Given the description of an element on the screen output the (x, y) to click on. 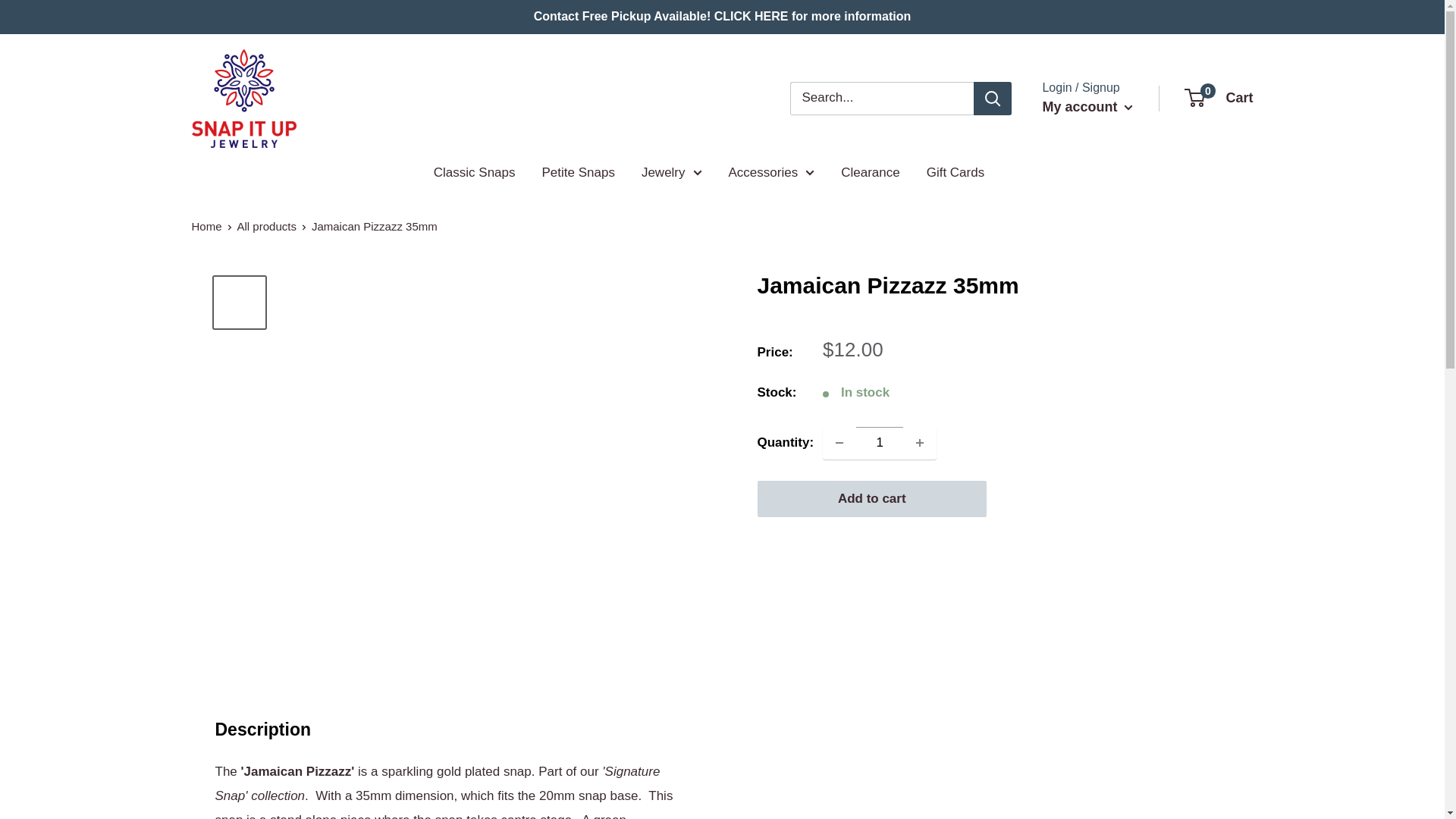
Decrease quantity by 1 (840, 442)
Increase quantity by 1 (920, 442)
1 (880, 442)
